Given the description of an element on the screen output the (x, y) to click on. 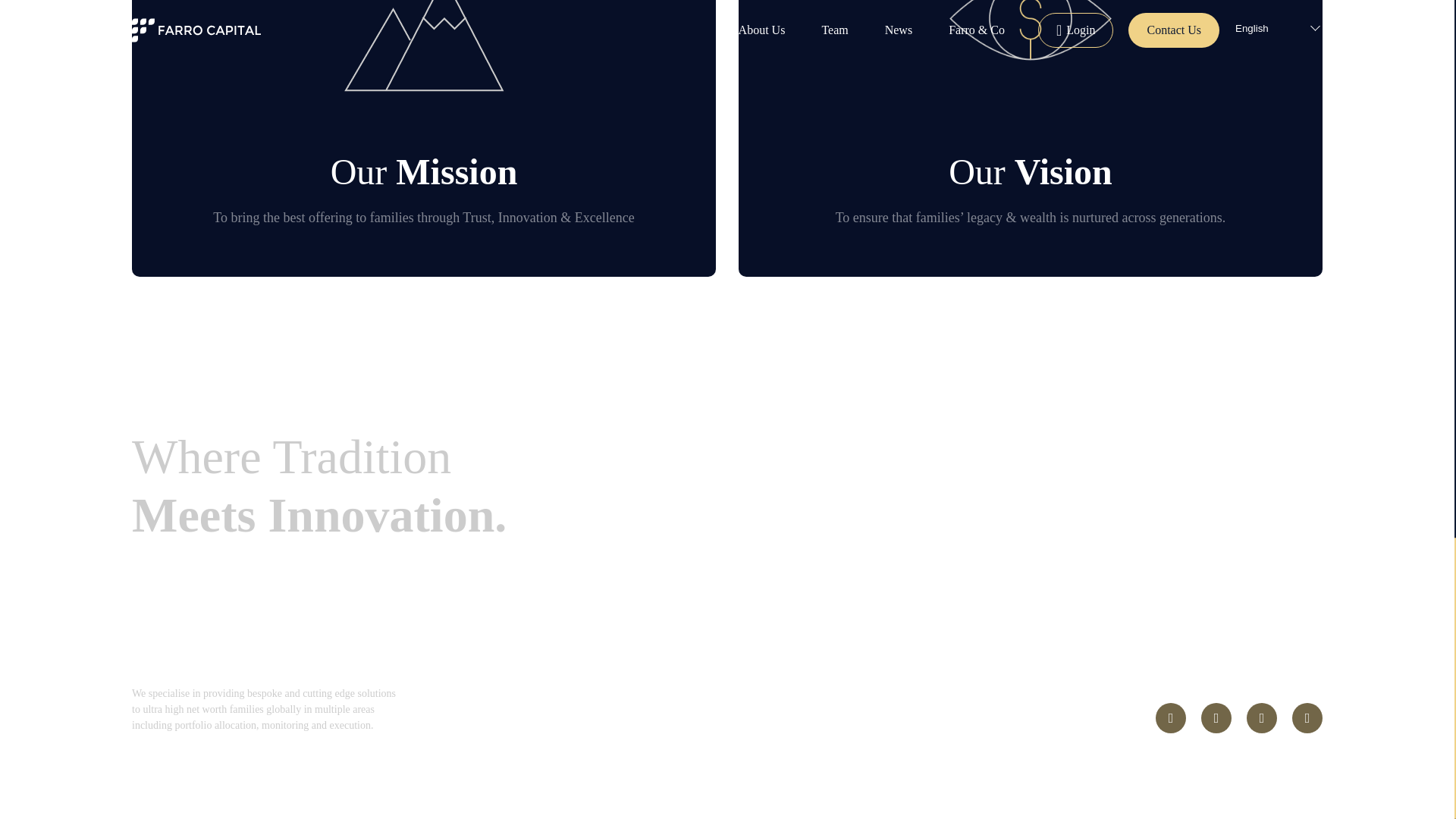
About Us (691, 717)
Team (781, 717)
Insights (949, 717)
Privacy Policy (1054, 717)
News (862, 717)
